Given the description of an element on the screen output the (x, y) to click on. 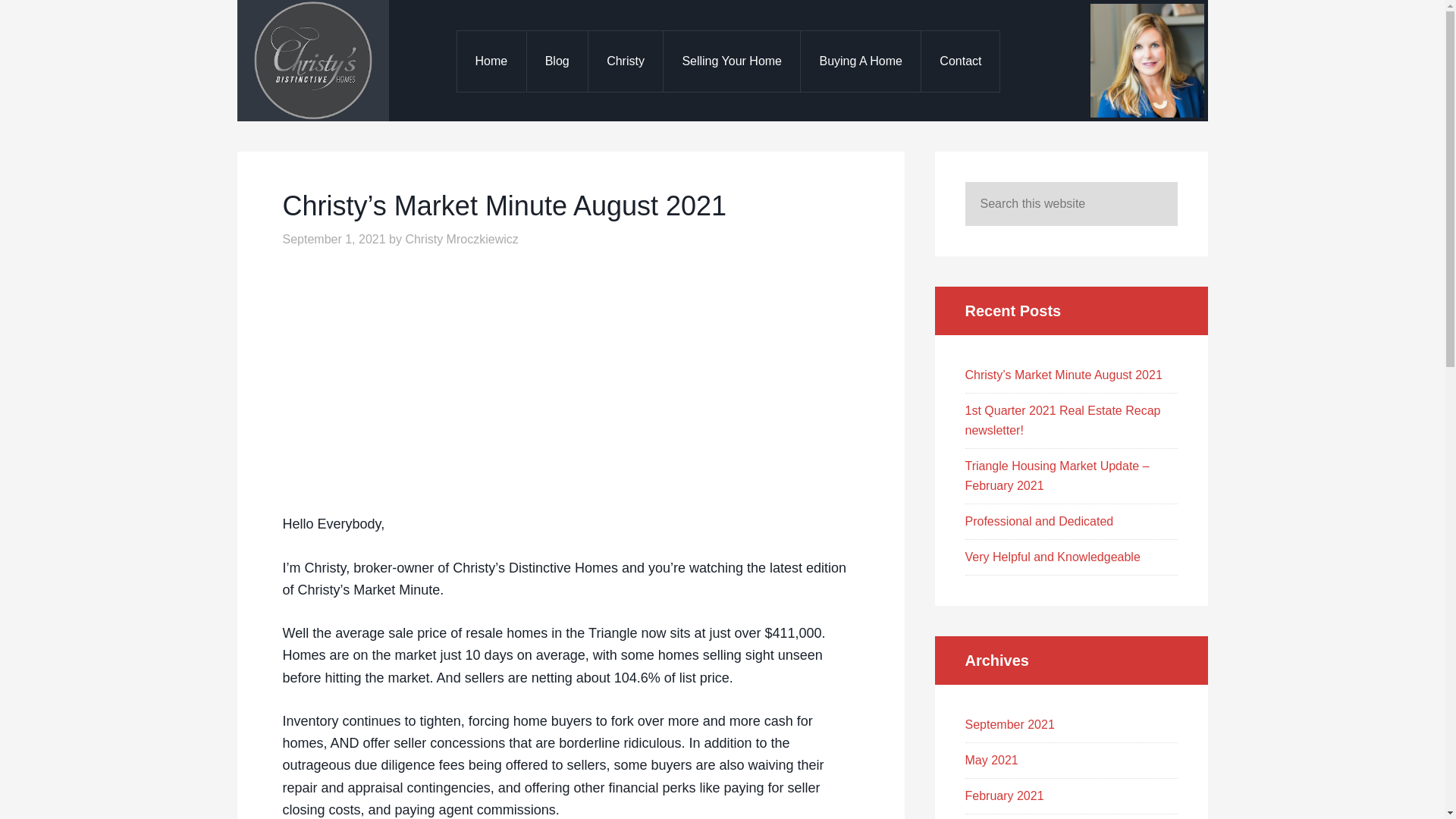
Christy's Market Minute August 2021   HD 1080p 2 (471, 378)
Christy (625, 61)
1st Quarter 2021 Real Estate Recap newsletter! (1061, 420)
Contact (959, 61)
Blog (556, 61)
Professional and Dedicated (1038, 521)
September 2021 (1008, 724)
Selling Your Home (730, 61)
February 2021 (1003, 795)
May 2021 (990, 759)
Home (491, 61)
Very Helpful and Knowledgeable (1051, 556)
